Given the description of an element on the screen output the (x, y) to click on. 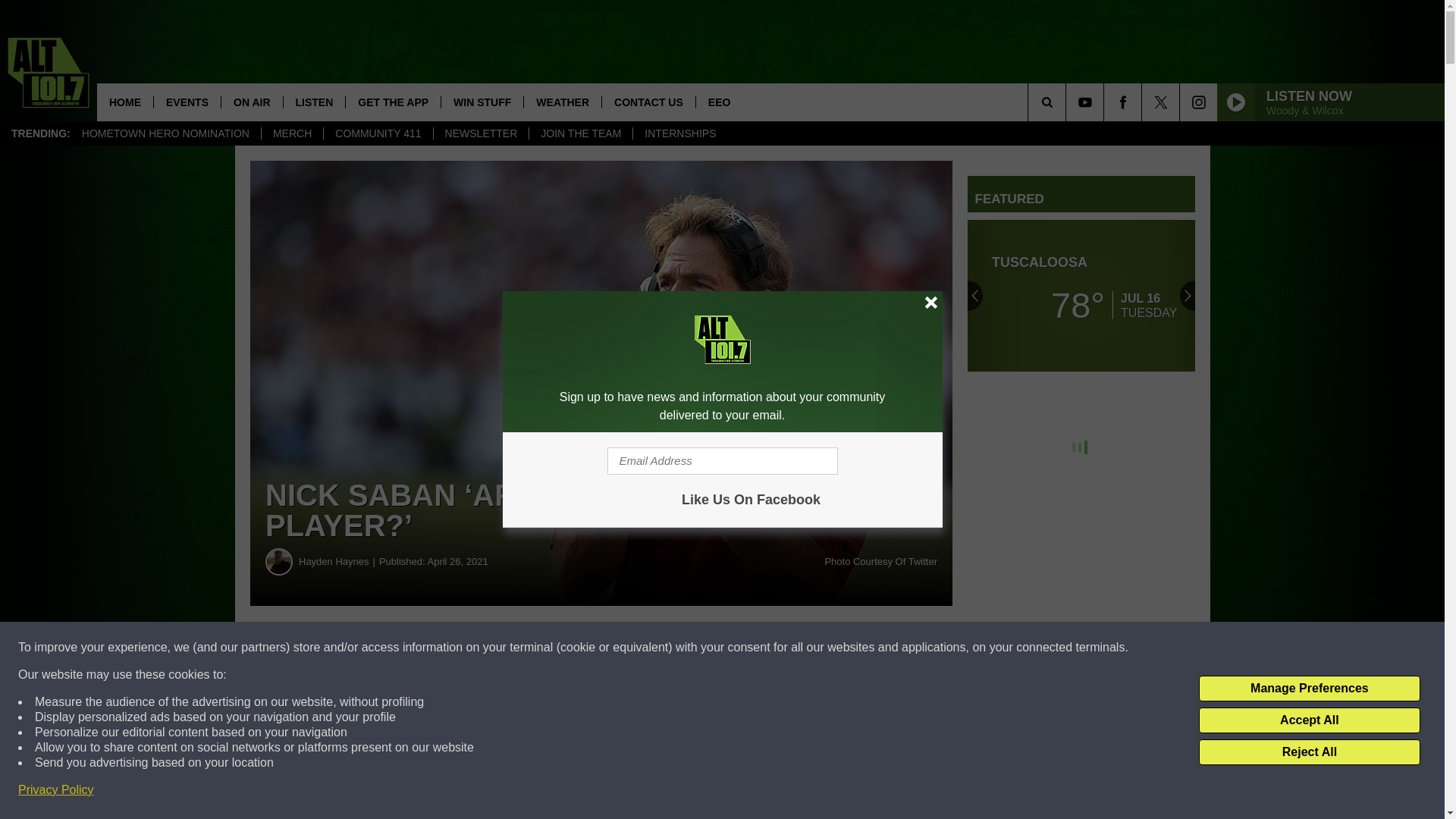
HOME (124, 102)
LISTEN (313, 102)
Accept All (1309, 720)
EVENTS (186, 102)
SEARCH (1068, 102)
WIN STUFF (481, 102)
Share on Twitter (741, 647)
Share on Facebook (460, 647)
GET THE APP (393, 102)
Reject All (1309, 751)
JOIN THE TEAM (579, 133)
Privacy Policy (55, 789)
Email Address (722, 461)
COMMUNITY 411 (377, 133)
SEARCH (1068, 102)
